Given the description of an element on the screen output the (x, y) to click on. 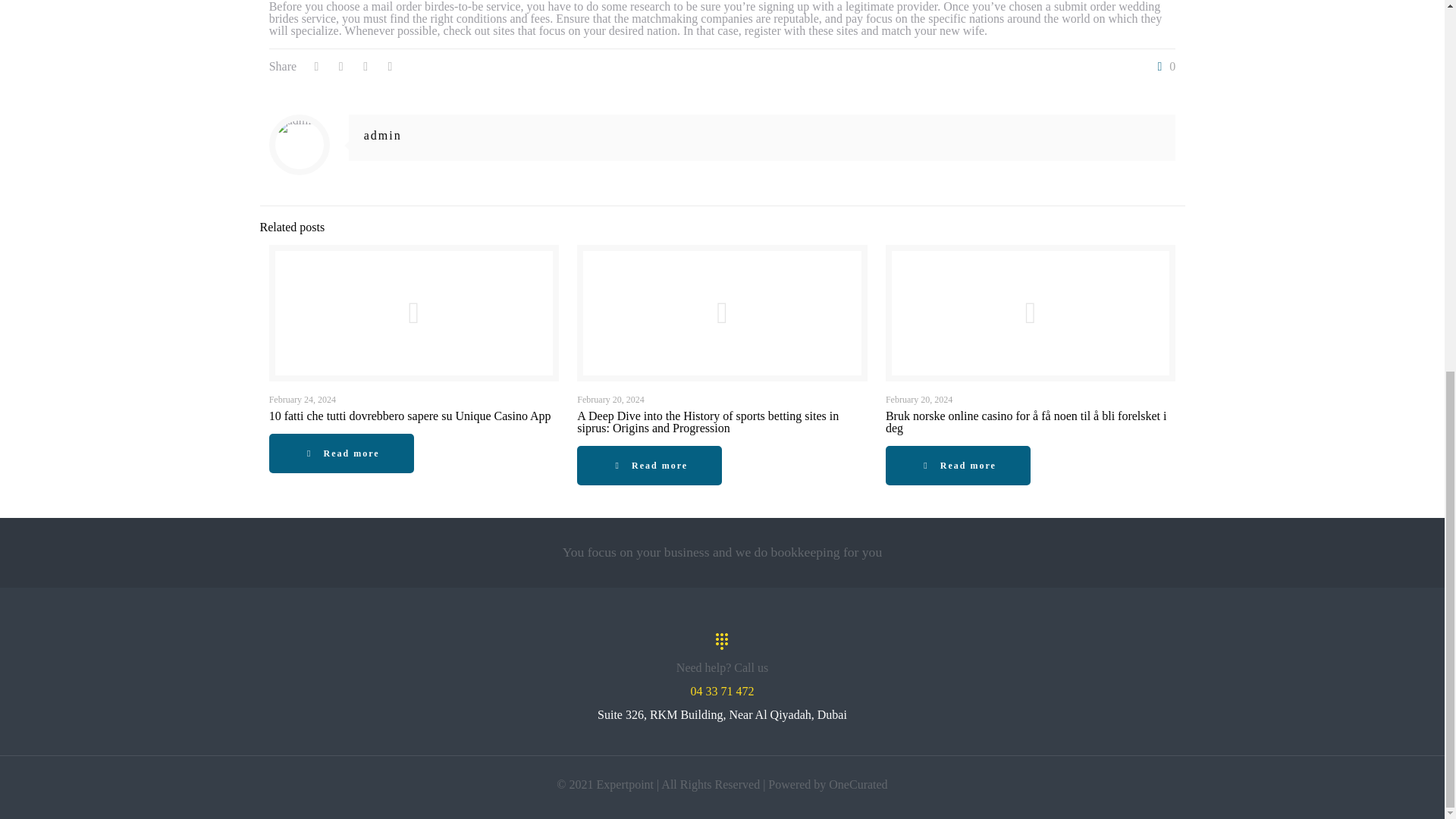
Read more (649, 465)
Read more (957, 465)
Read more (341, 453)
admin (382, 134)
0 (1162, 66)
10 fatti che tutti dovrebbero sapere su Unique Casino App (410, 415)
